Given the description of an element on the screen output the (x, y) to click on. 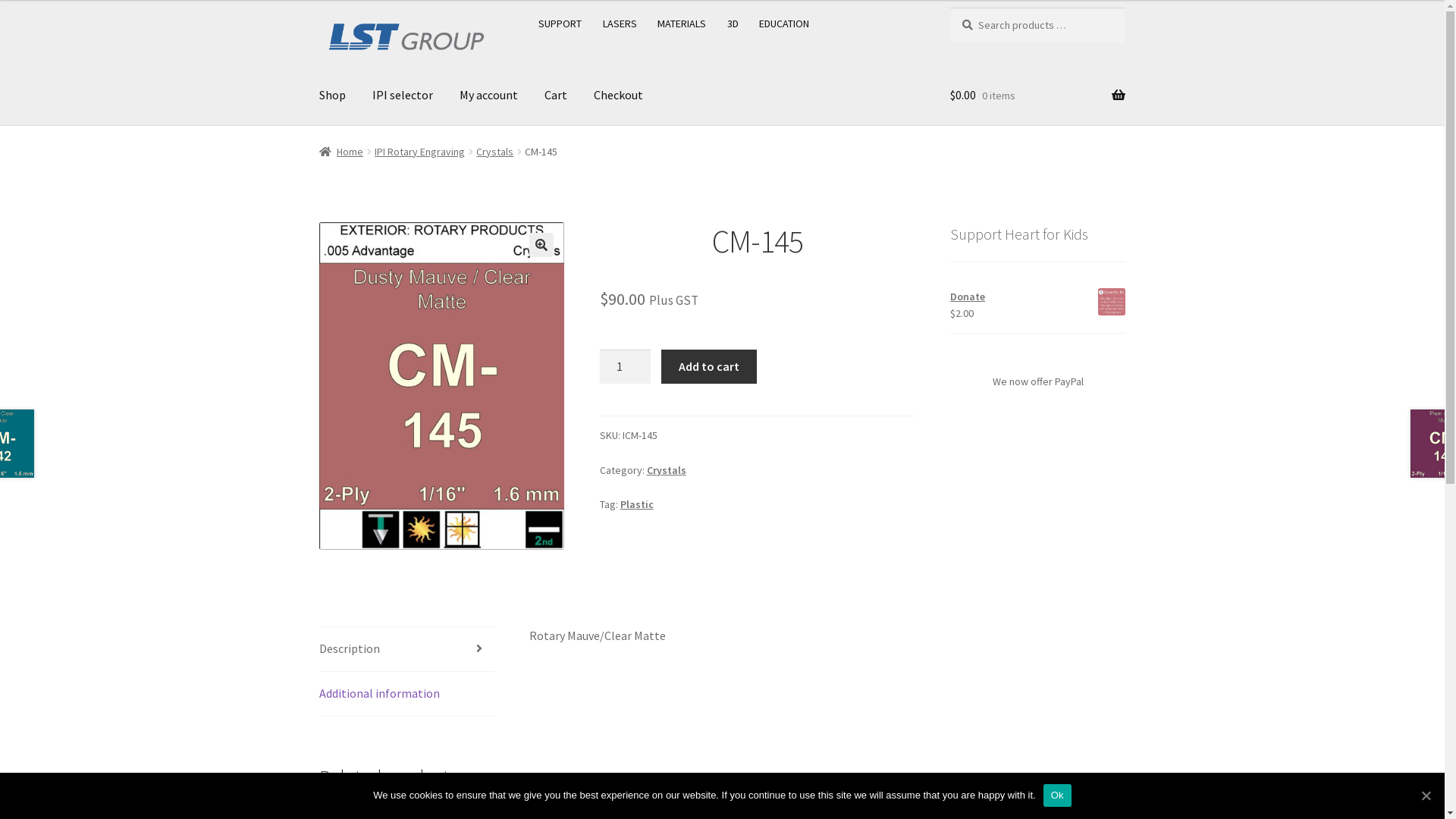
Description Element type: text (406, 649)
IPI Rotary Engraving Element type: text (419, 151)
Crystals Element type: text (666, 469)
My account Element type: text (488, 95)
Skip to navigation Element type: text (318, 6)
IPI selector Element type: text (402, 95)
$0.00 0 items Element type: text (1037, 95)
Crystals Element type: text (494, 151)
SUPPORT Element type: text (560, 23)
LASERS Element type: text (619, 23)
MATERIALS Element type: text (681, 23)
Home Element type: text (341, 151)
EDUCATION Element type: text (784, 23)
Ok Element type: text (1057, 795)
Shop Element type: text (332, 95)
3D Element type: text (733, 23)
Add to cart Element type: text (708, 366)
Additional information Element type: text (406, 693)
Plastic Element type: text (636, 504)
Checkout Element type: text (618, 95)
Donate Element type: text (1037, 296)
Cart Element type: text (555, 95)
CM-145-1.jpg Element type: hover (441, 385)
